Given the description of an element on the screen output the (x, y) to click on. 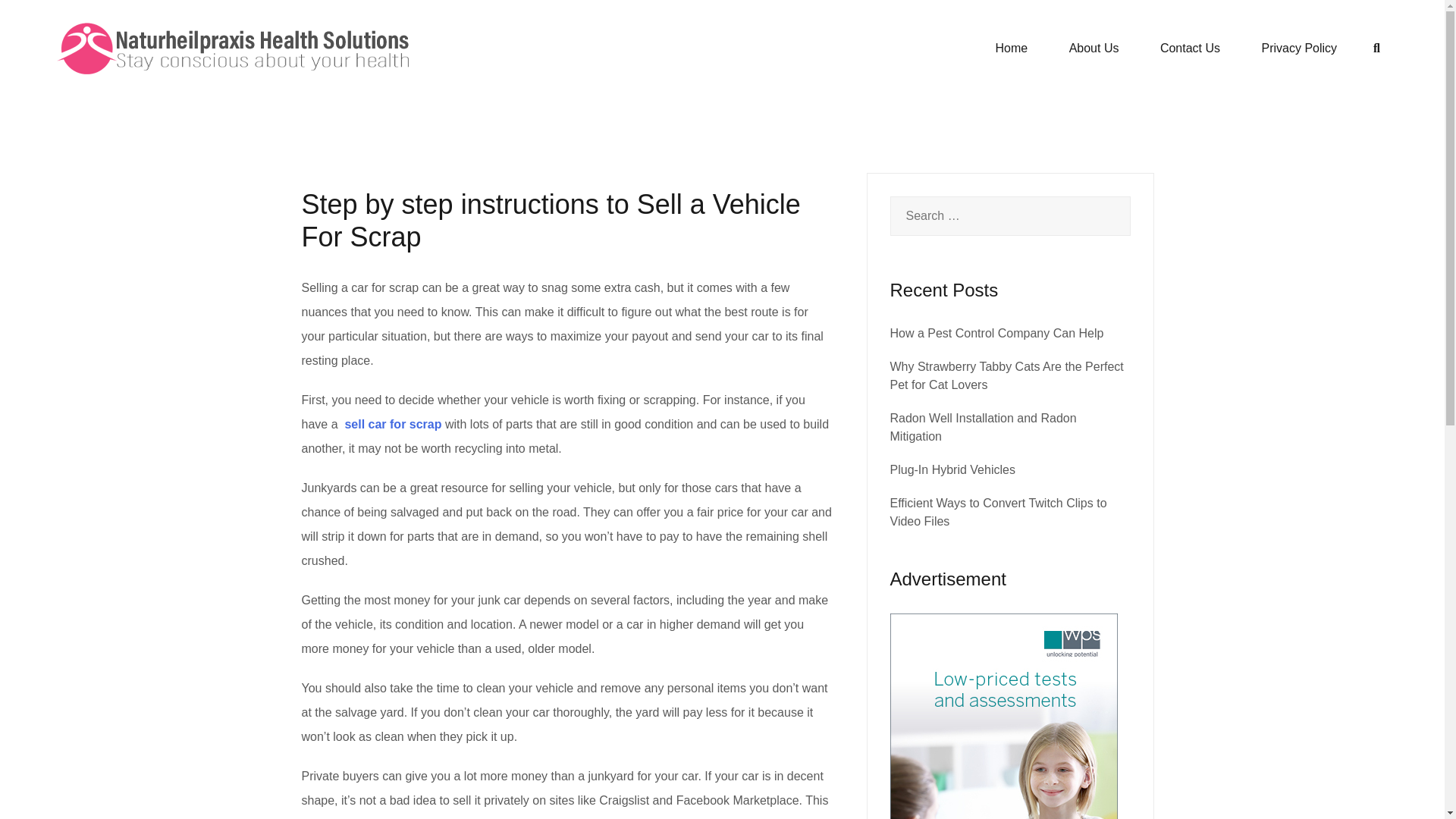
Contact Us (1190, 48)
Search (47, 19)
sell car for scrap (394, 423)
Radon Well Installation and Radon Mitigation (983, 427)
Home (1010, 48)
Privacy Policy (1300, 48)
About Us (1093, 48)
Efficient Ways to Convert Twitch Clips to Video Files (997, 511)
Why Strawberry Tabby Cats Are the Perfect Pet for Cat Lovers (1006, 375)
How a Pest Control Company Can Help (996, 332)
